Given the description of an element on the screen output the (x, y) to click on. 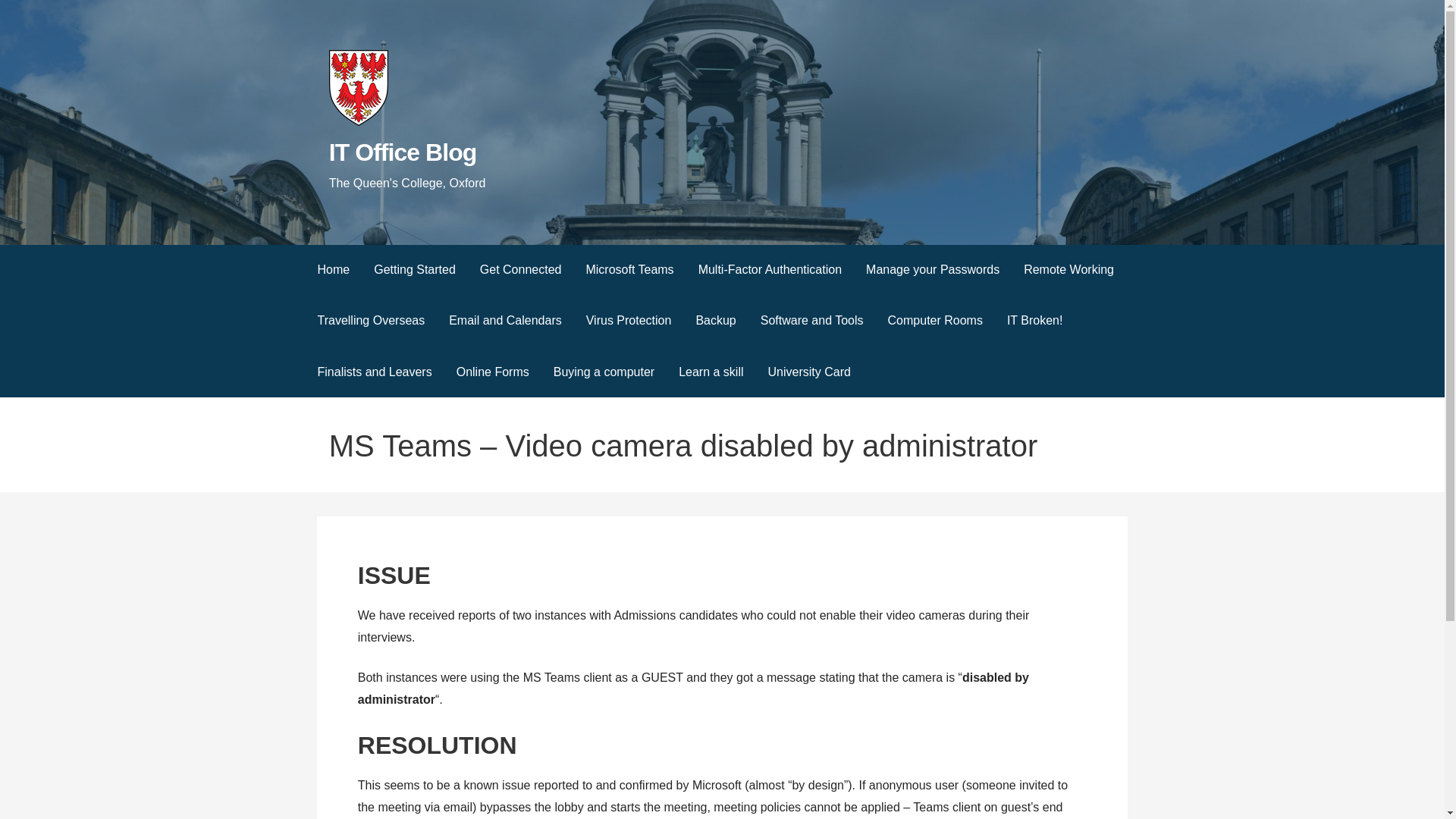
Manage your Passwords (932, 269)
Getting Started (414, 269)
Email and Calendars (504, 320)
Software and Tools (812, 320)
Get Connected (520, 269)
Travelling Overseas (370, 320)
IT Office Blog (403, 152)
Backup (715, 320)
Remote Working (1068, 269)
